Given the description of an element on the screen output the (x, y) to click on. 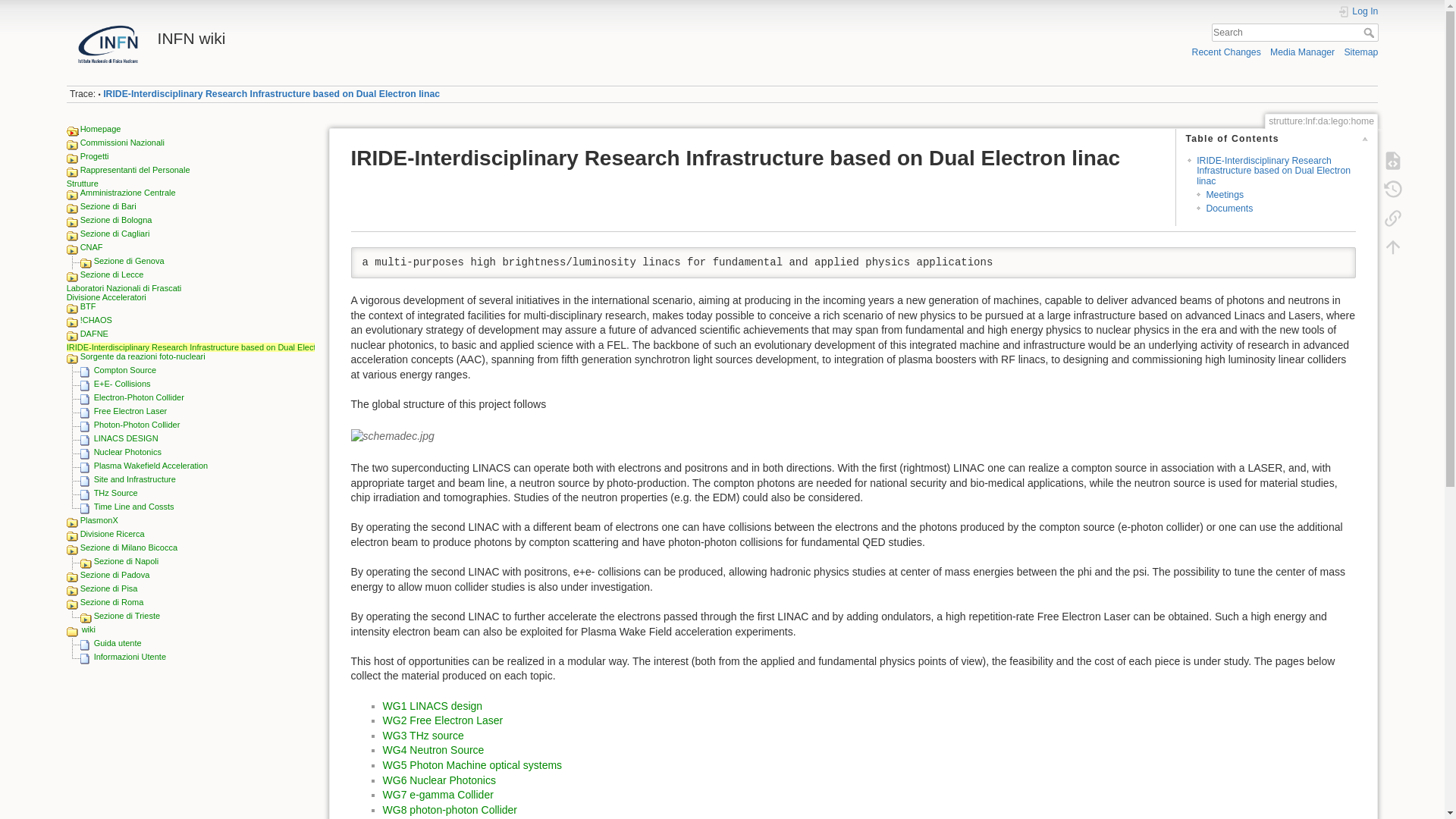
Commissioni Nazionali (122, 142)
CNAF (91, 246)
Sezione di Genova (129, 260)
Homepage (100, 128)
Log In (1358, 11)
Rappresentanti del Personale (135, 169)
Progetti (94, 155)
Sezione di Bologna (116, 219)
Search (1369, 32)
Sezione di Bari (108, 205)
Homepage (100, 128)
strutture:lnf:da:lego:home (271, 93)
Recent Changes (1226, 51)
Search (1369, 32)
